Given the description of an element on the screen output the (x, y) to click on. 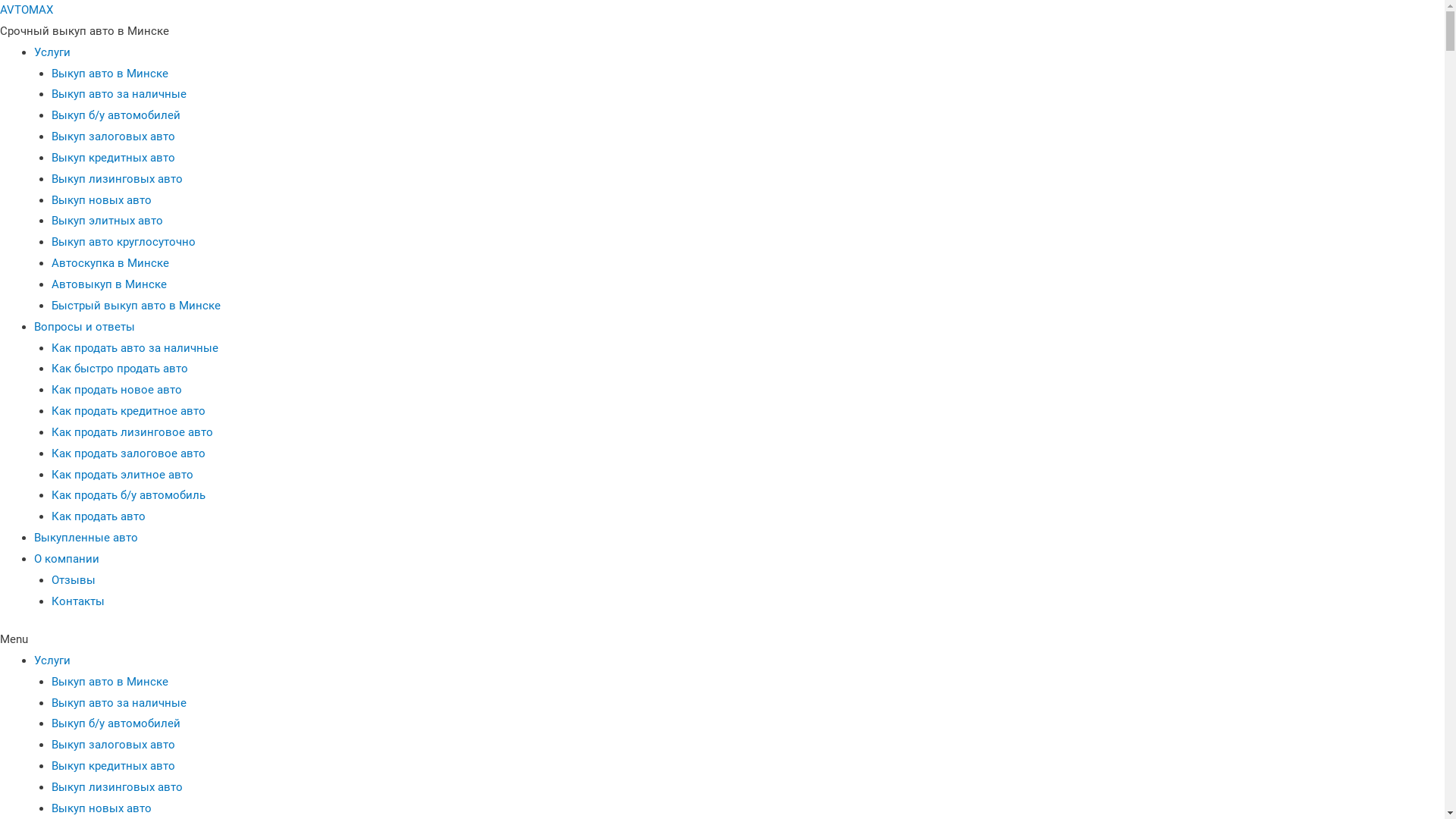
AVTOMAX Element type: text (26, 9)
